Given the description of an element on the screen output the (x, y) to click on. 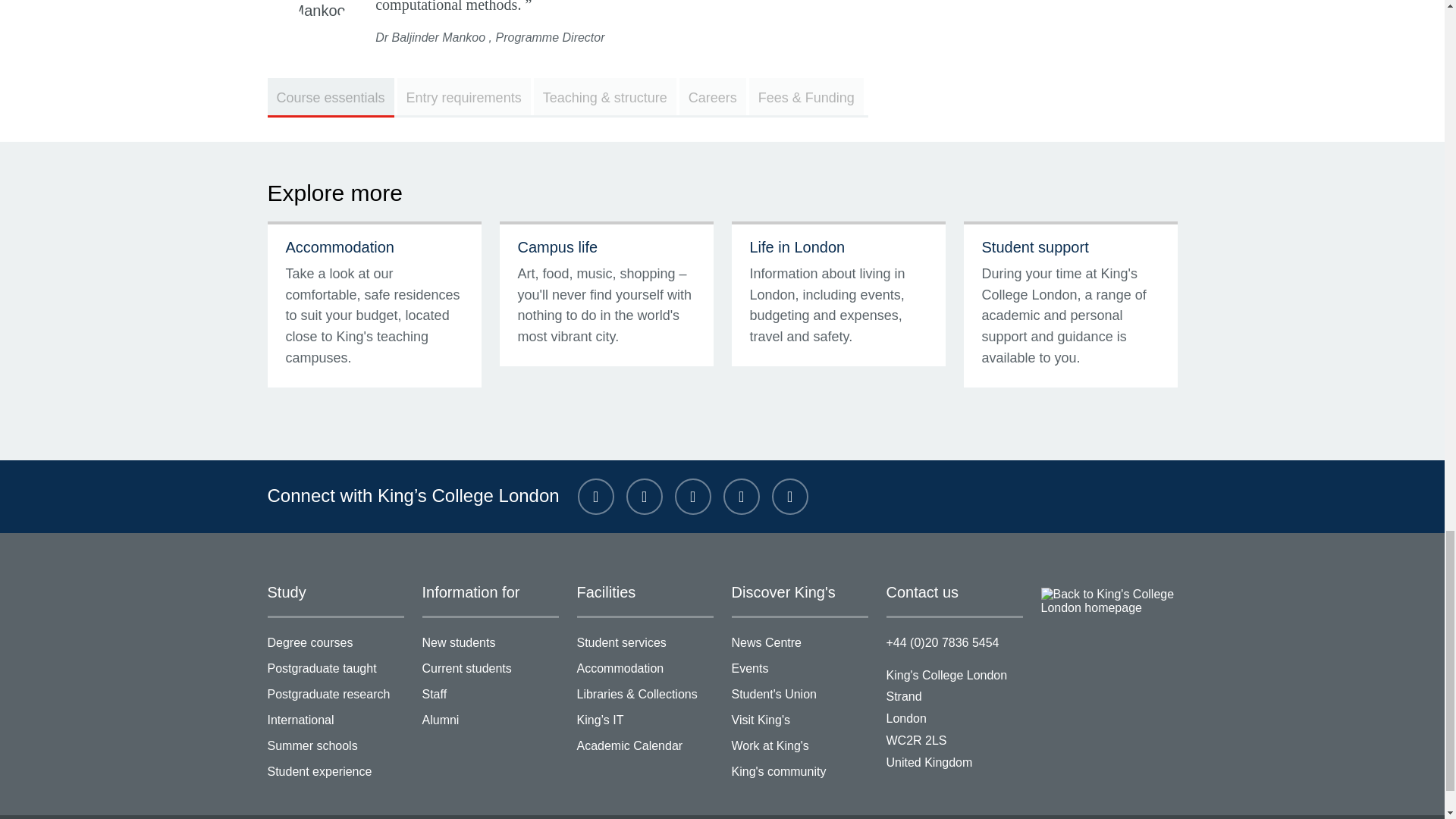
Life in London (796, 247)
Student support (1034, 247)
Accommodation (339, 247)
Campus life (556, 247)
